Given the description of an element on the screen output the (x, y) to click on. 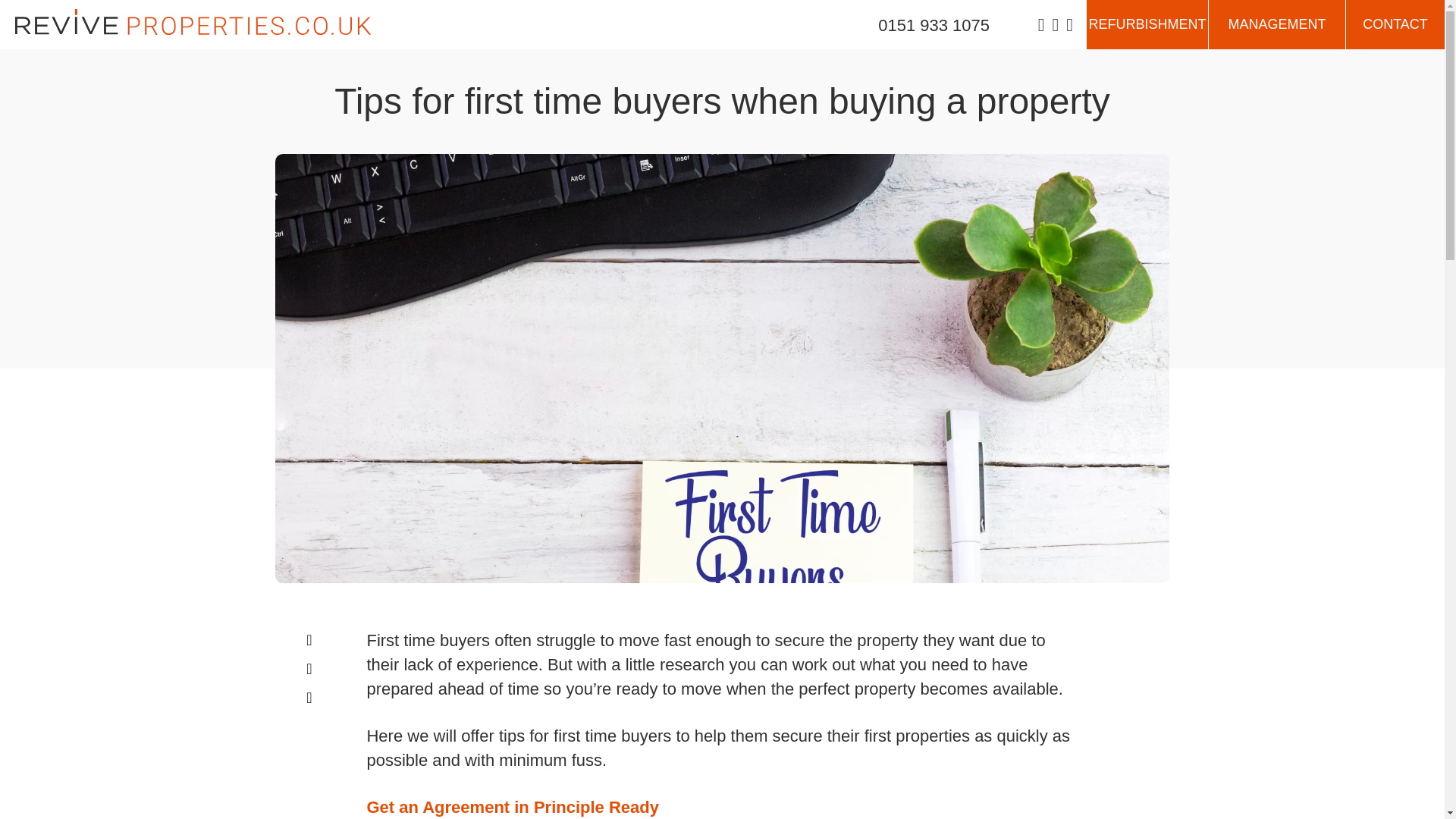
MANAGEMENT (1276, 24)
0151 933 1075 (933, 24)
REFURBISHMENT (1147, 24)
